Given the description of an element on the screen output the (x, y) to click on. 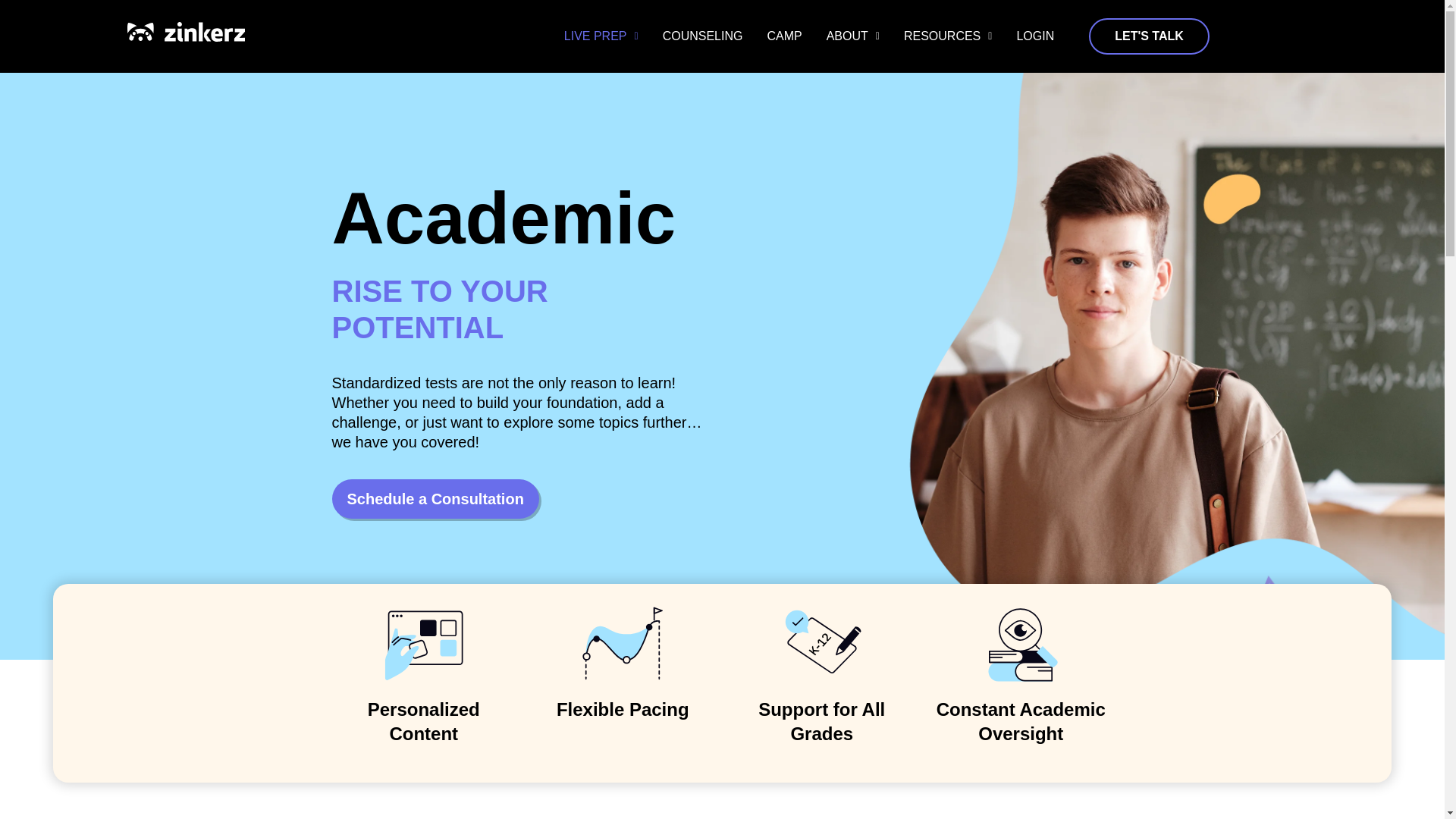
RESOURCES (947, 36)
LIVE PREP (600, 36)
ABOUT (852, 36)
LOGIN (1034, 36)
COUNSELING (702, 36)
LET'S TALK (1149, 36)
CAMP (783, 36)
